Given the description of an element on the screen output the (x, y) to click on. 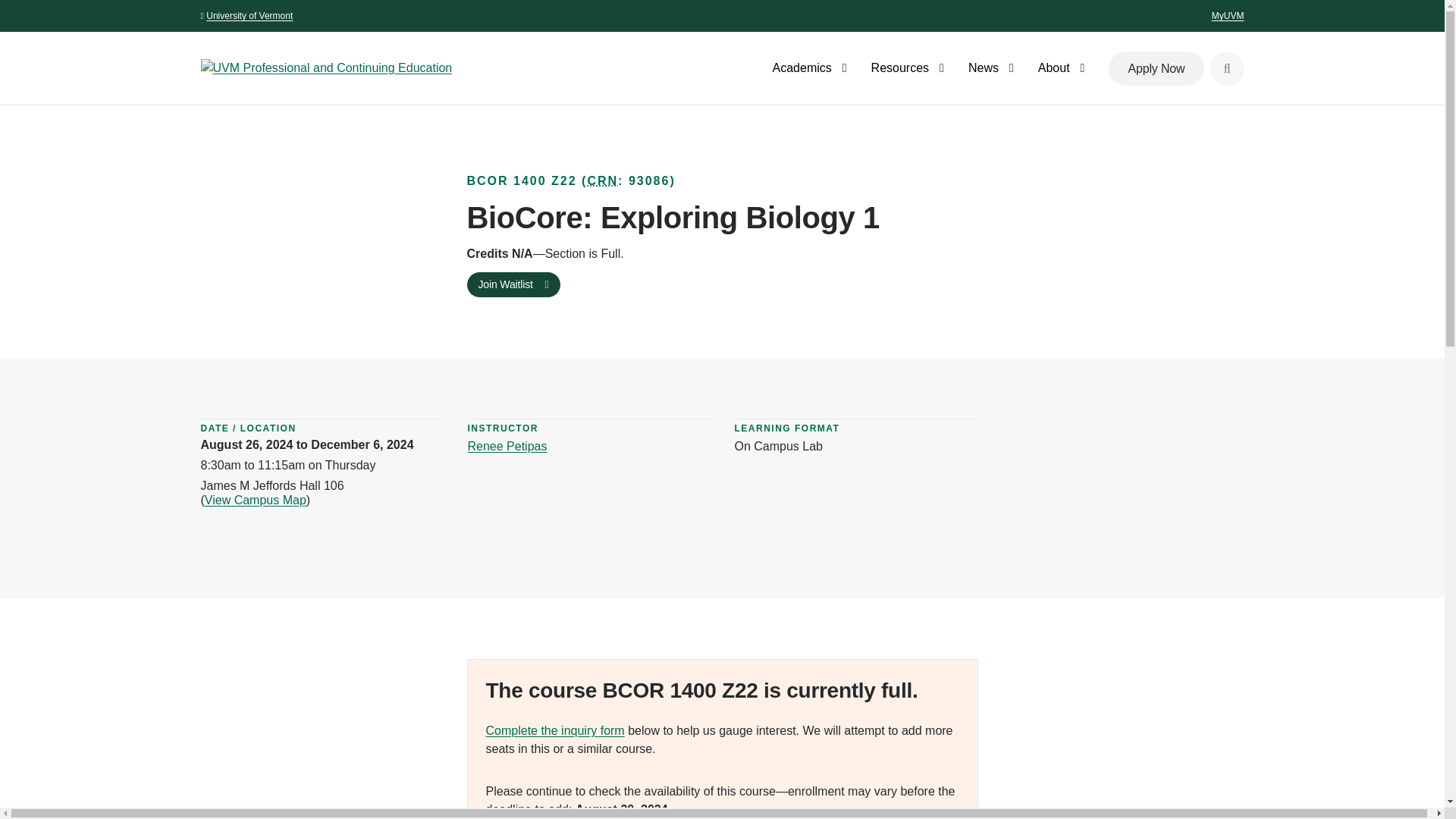
News (1003, 67)
Academics (821, 67)
Join Waitlist (513, 284)
Course Reference Number (601, 180)
Resources (919, 67)
Deadline to Add (621, 809)
